Given the description of an element on the screen output the (x, y) to click on. 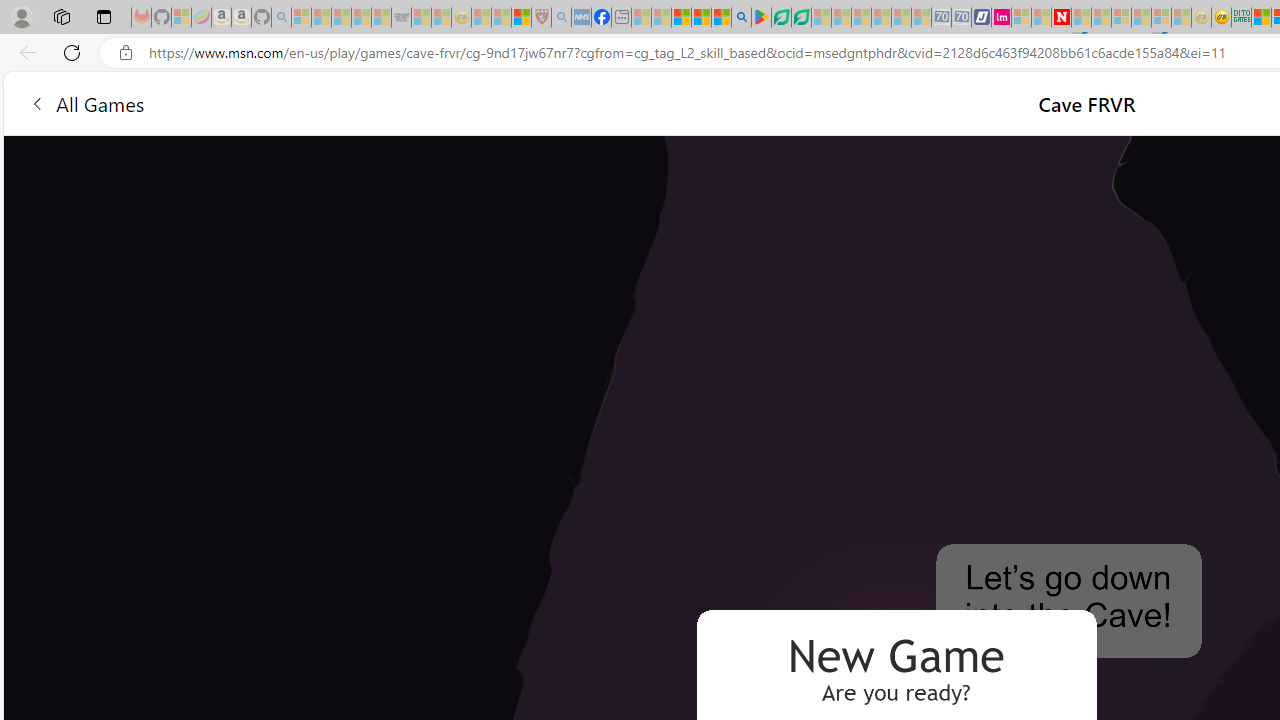
NCL Adult Asthma Inhaler Choice Guideline - Sleeping (581, 17)
Cheap Car Rentals - Save70.com - Sleeping (941, 17)
14 Common Myths Debunked By Scientific Facts - Sleeping (1101, 17)
list of asthma inhalers uk - Search - Sleeping (560, 17)
MSNBC - MSN (1261, 17)
The Weather Channel - MSN - Sleeping (340, 17)
